Given the description of an element on the screen output the (x, y) to click on. 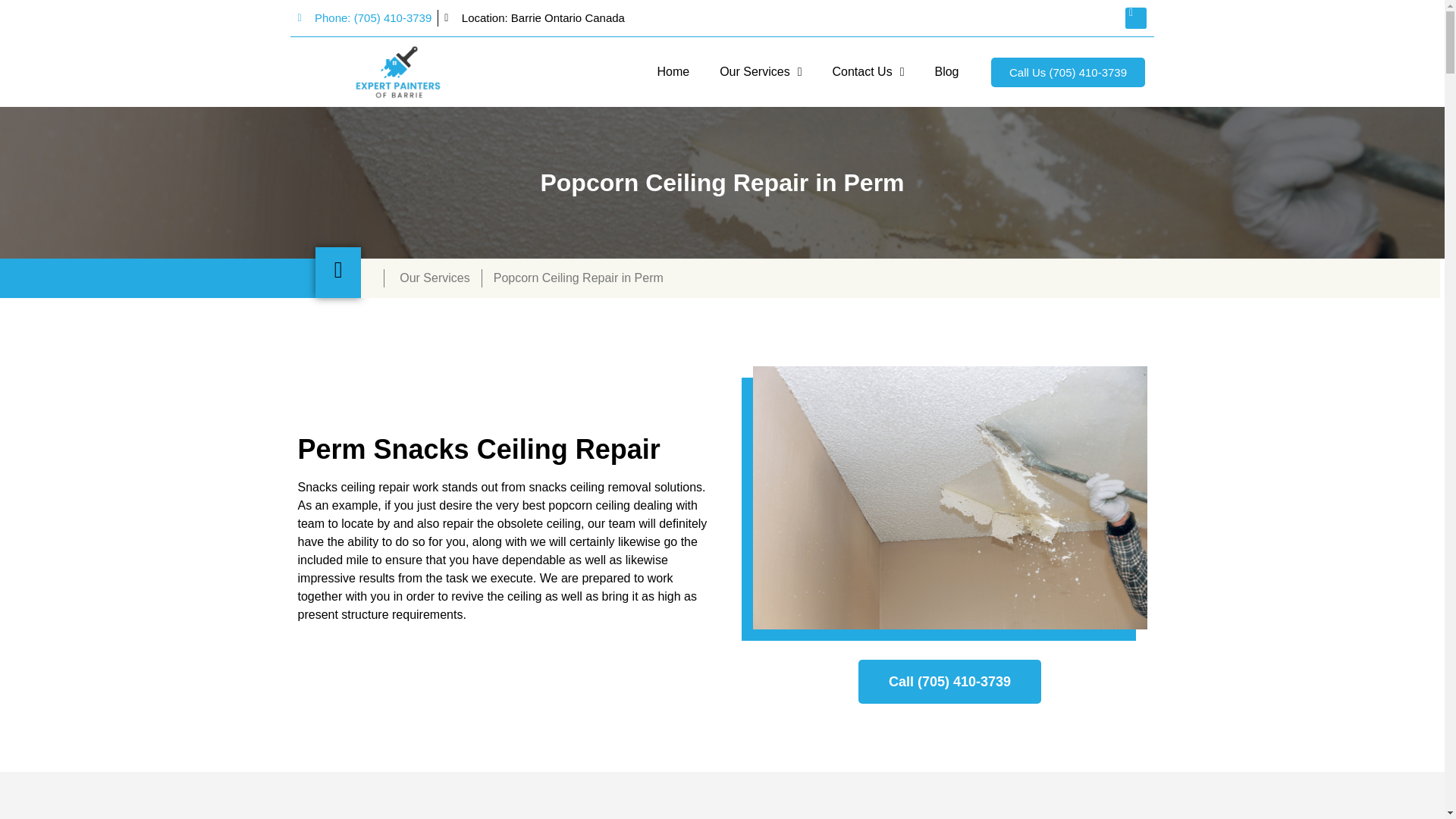
Contact Us (867, 71)
Our Services (760, 71)
Home (673, 71)
Blog (946, 71)
